Given the description of an element on the screen output the (x, y) to click on. 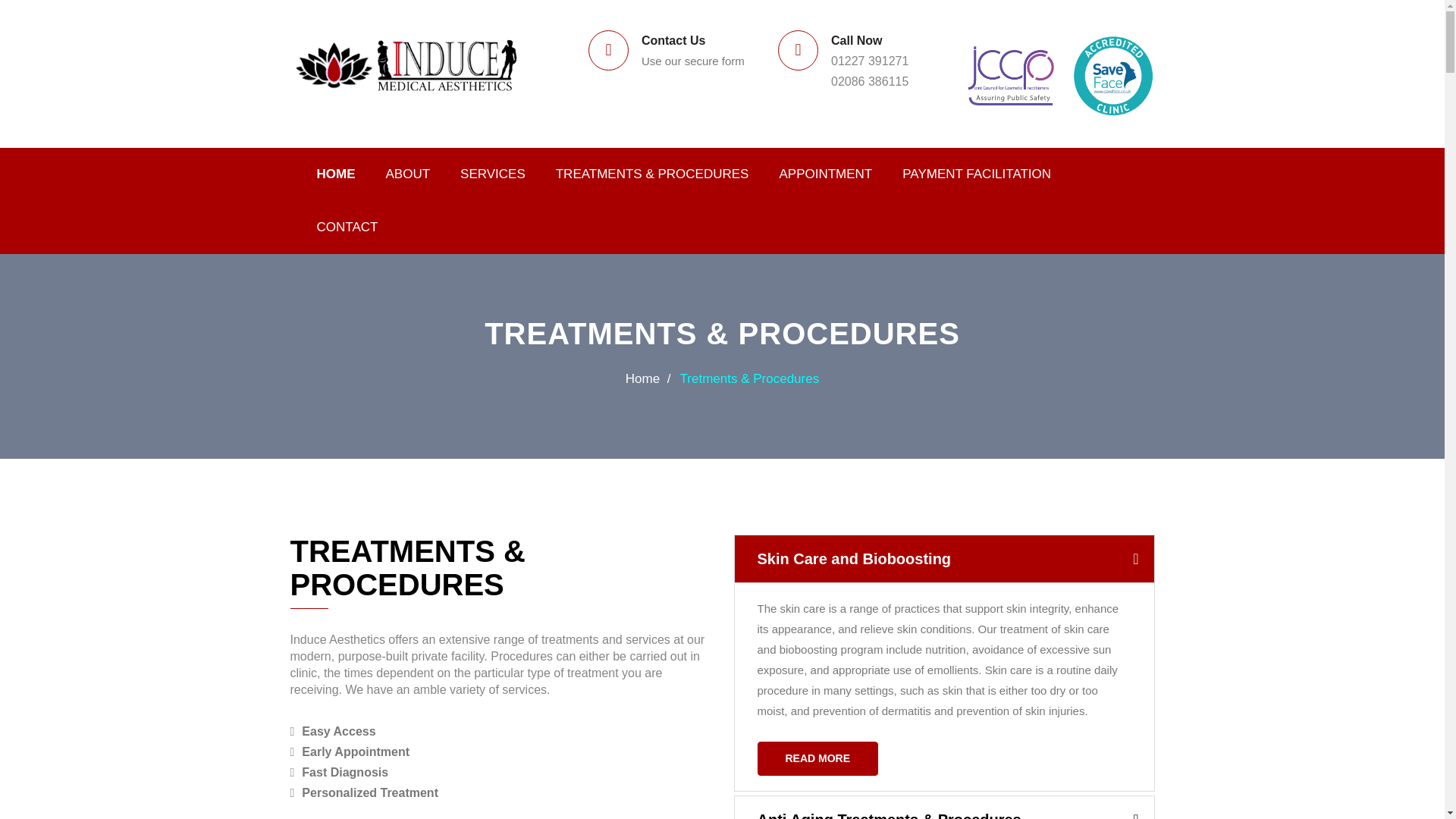
HOME (336, 174)
PAYMENT FACILITATION (975, 174)
APPOINTMENT (824, 174)
CONTACT (347, 226)
ABOUT (407, 174)
SERVICES (492, 174)
Skin Care and Bioboosting (943, 558)
READ MORE (817, 758)
Use our secure form (693, 60)
